Given the description of an element on the screen output the (x, y) to click on. 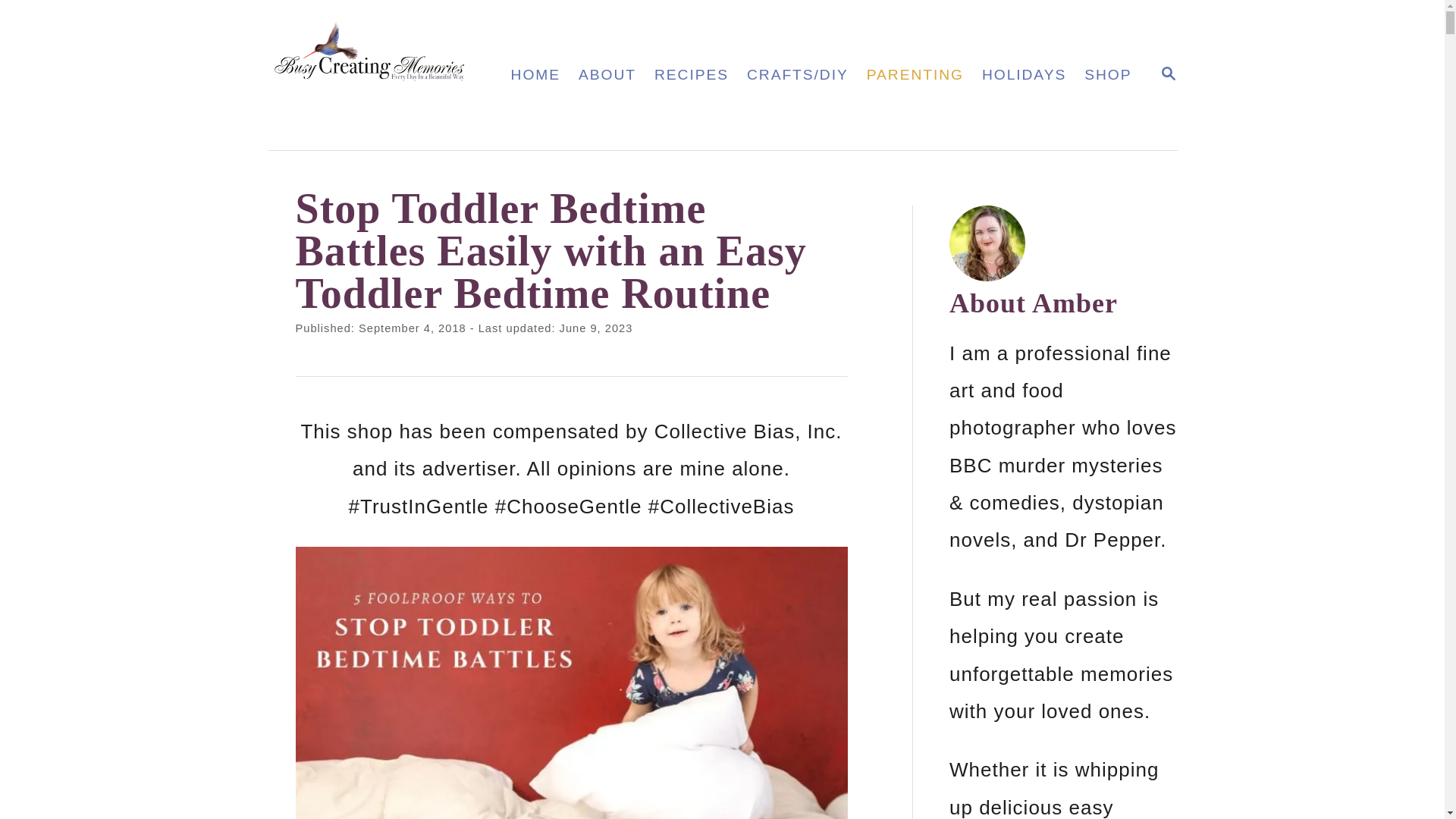
PARENTING (914, 74)
MAGNIFYING GLASS (1167, 75)
RECIPES (1167, 73)
ABOUT (691, 74)
Busy Creating Memories (607, 74)
HOME (381, 74)
